Given the description of an element on the screen output the (x, y) to click on. 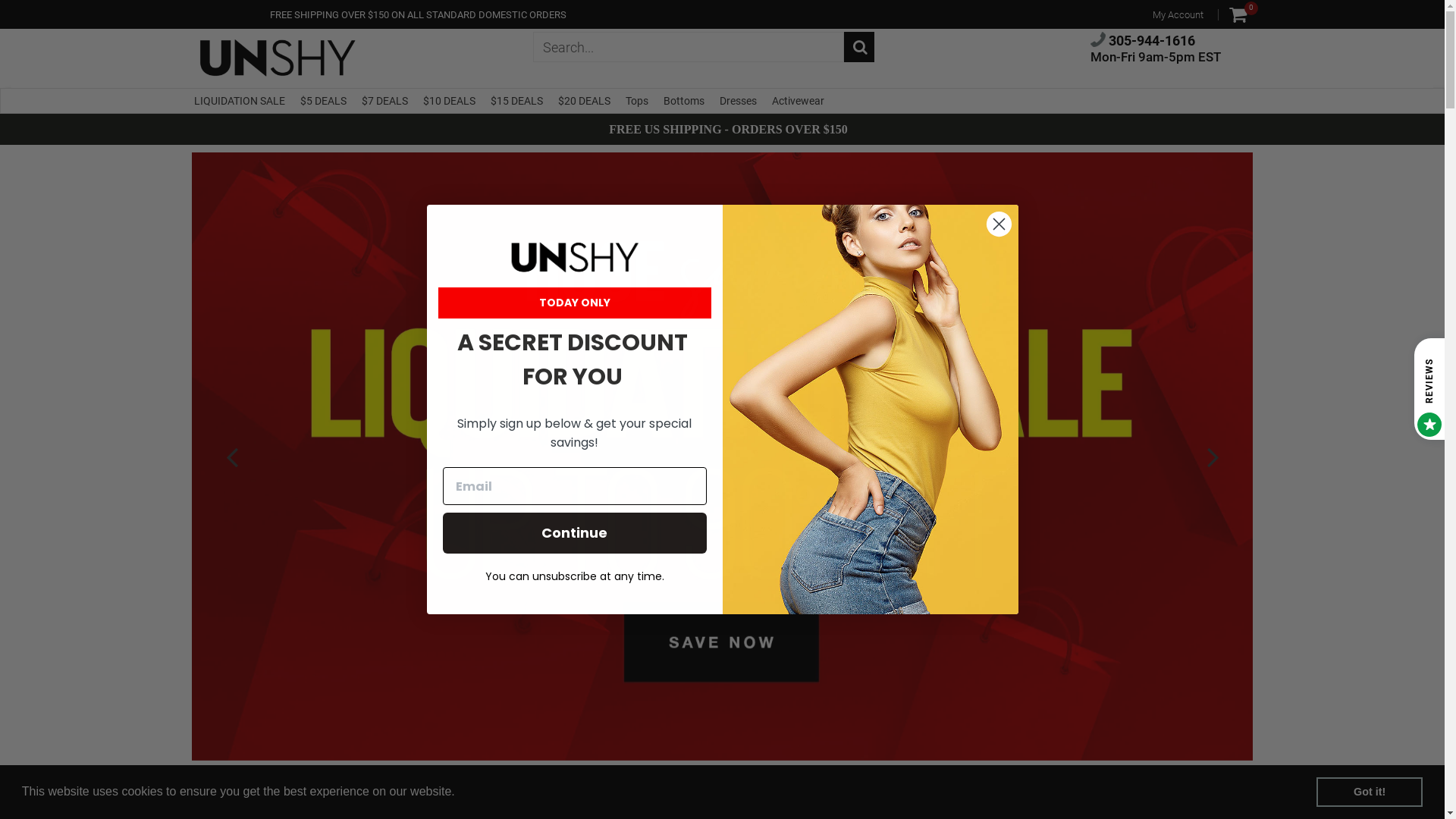
LIQUIDATION SALE Element type: text (239, 100)
My Account Element type: text (1177, 14)
success Element type: hover (858, 46)
$10 DEALS Element type: text (449, 100)
$5 DEALS Element type: text (323, 100)
0 Element type: text (1237, 14)
Submit Element type: text (27, 14)
Got it! Element type: text (1369, 791)
Continue Element type: text (574, 532)
link to  collection Element type: hover (721, 456)
305-944-1616 Element type: text (1142, 40)
Activewear Element type: text (797, 100)
$20 DEALS Element type: text (584, 100)
Bottoms Element type: text (682, 100)
Tops Element type: text (635, 100)
FREE SHIPPING OVER $150 ON ALL STANDARD DOMESTIC ORDERS Element type: text (417, 14)
$7 DEALS Element type: text (383, 100)
$15 DEALS Element type: text (515, 100)
Dresses Element type: text (737, 100)
